Given the description of an element on the screen output the (x, y) to click on. 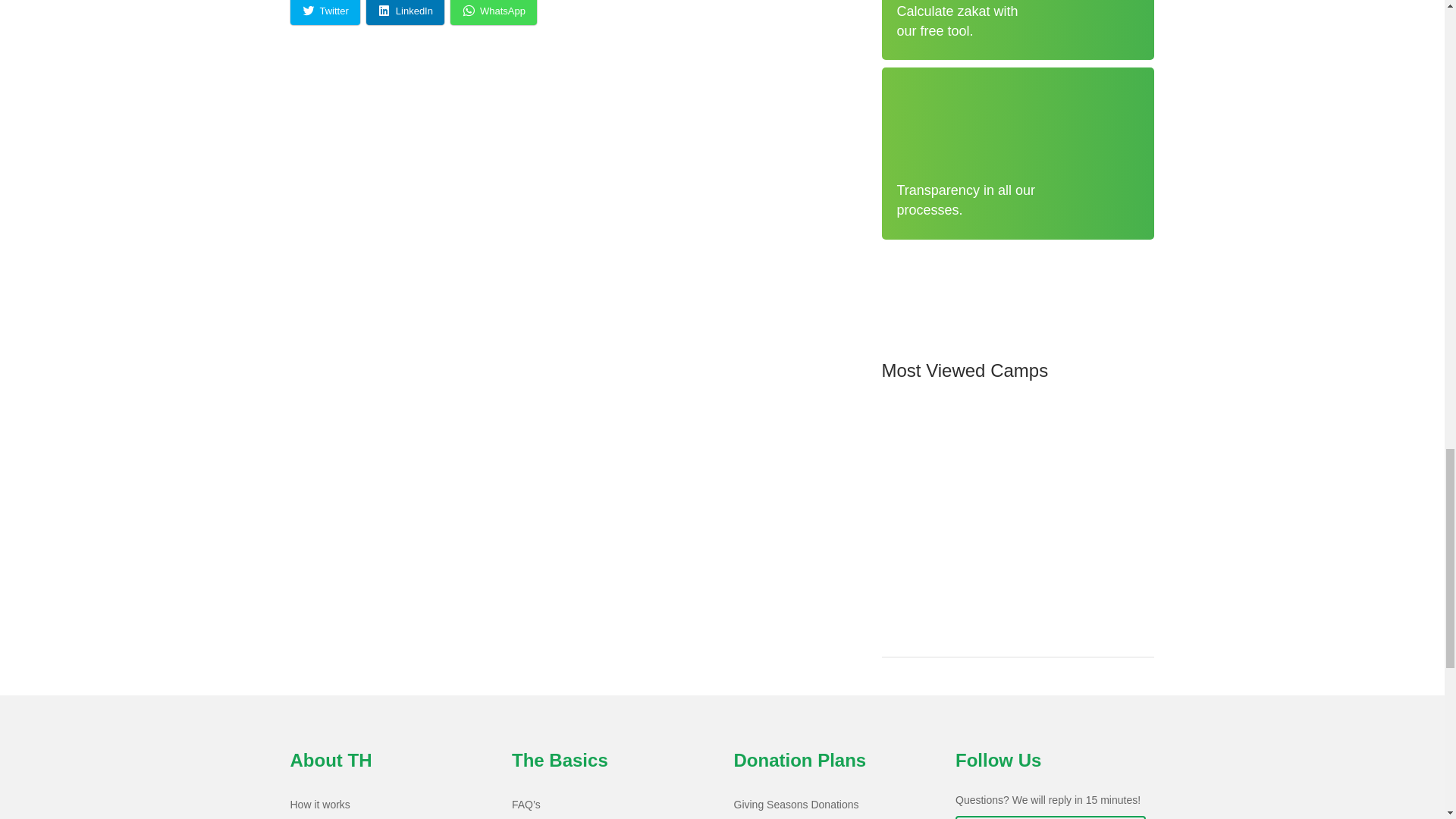
Click to share on LinkedIn (405, 12)
LinkedIn (405, 12)
Click to share on WhatsApp (493, 12)
WhatsApp (493, 12)
Twitter (324, 12)
Click to share on Twitter (324, 12)
